Given the description of an element on the screen output the (x, y) to click on. 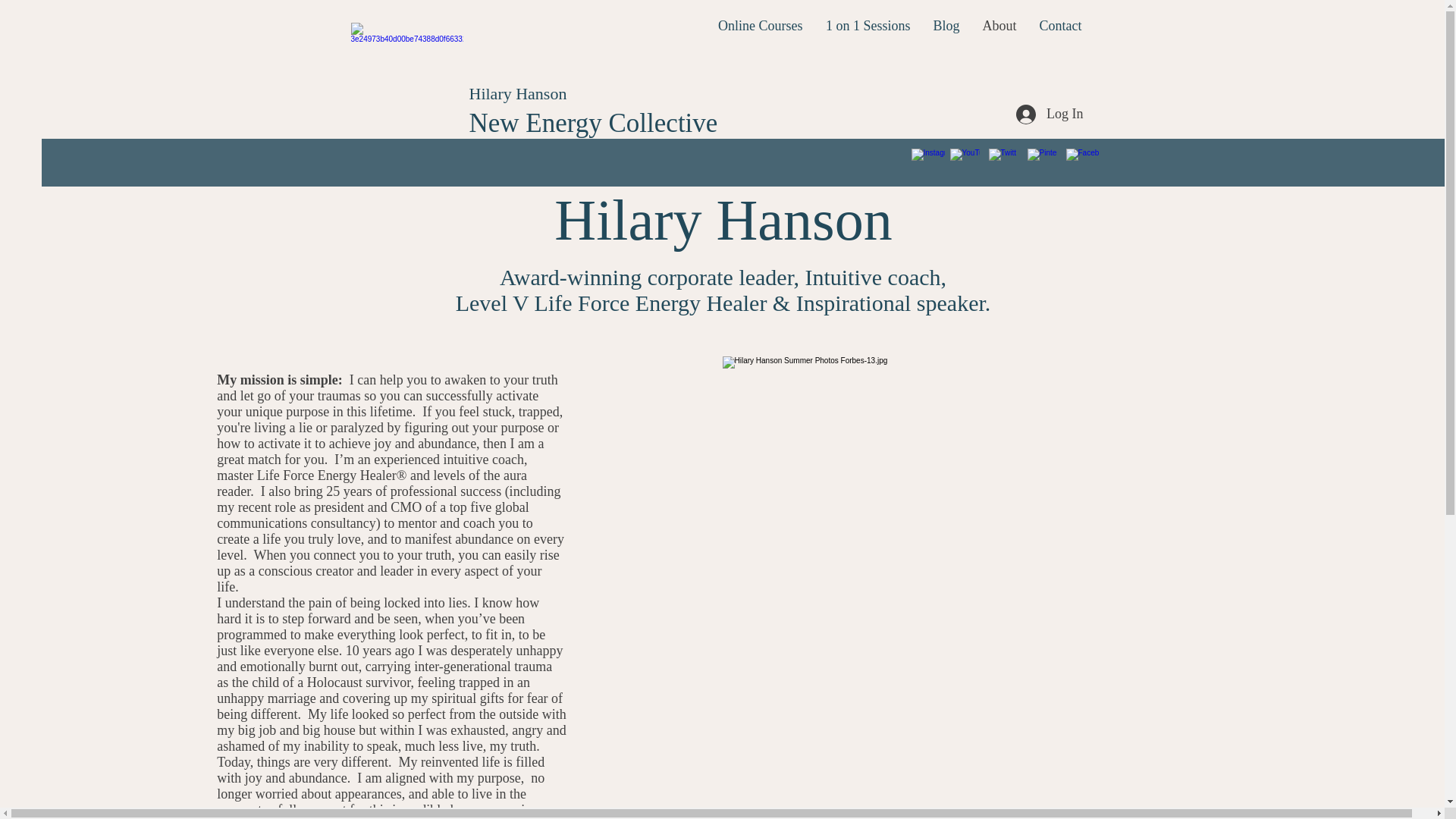
Log In (1050, 113)
About (999, 25)
Online Courses (759, 25)
1 on 1 Sessions (867, 25)
Contact (1060, 25)
New Energy Collective (592, 123)
Hilary Hanson (517, 93)
Blog (946, 25)
